Given the description of an element on the screen output the (x, y) to click on. 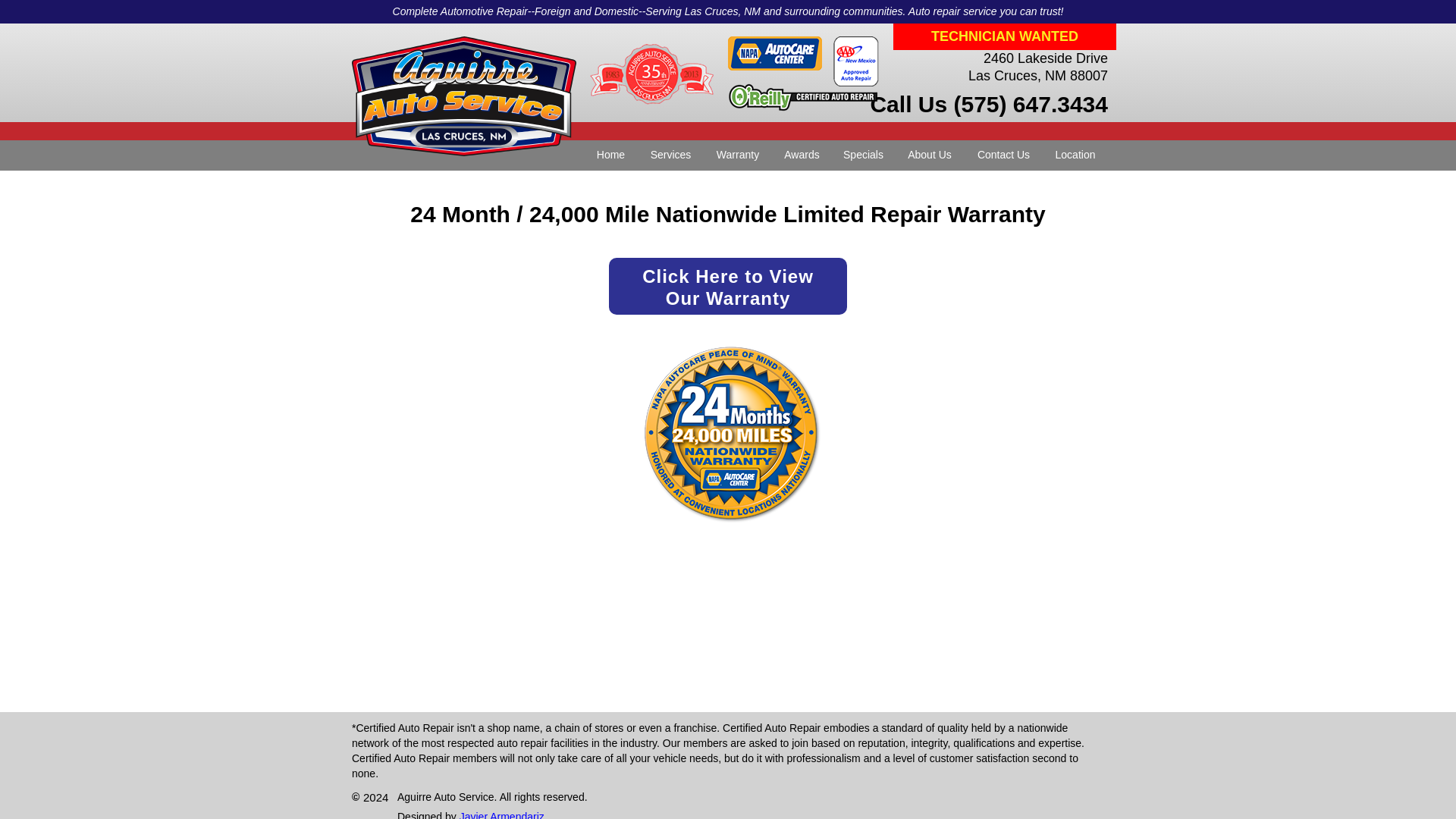
Specials (863, 155)
Home (611, 155)
Contact Us (1002, 155)
TECHNICIAN WANTED (1004, 36)
Javier Armendariz (502, 814)
About Us (727, 285)
Services (929, 155)
Warranty (671, 155)
Awards (738, 155)
Location (802, 155)
